Given the description of an element on the screen output the (x, y) to click on. 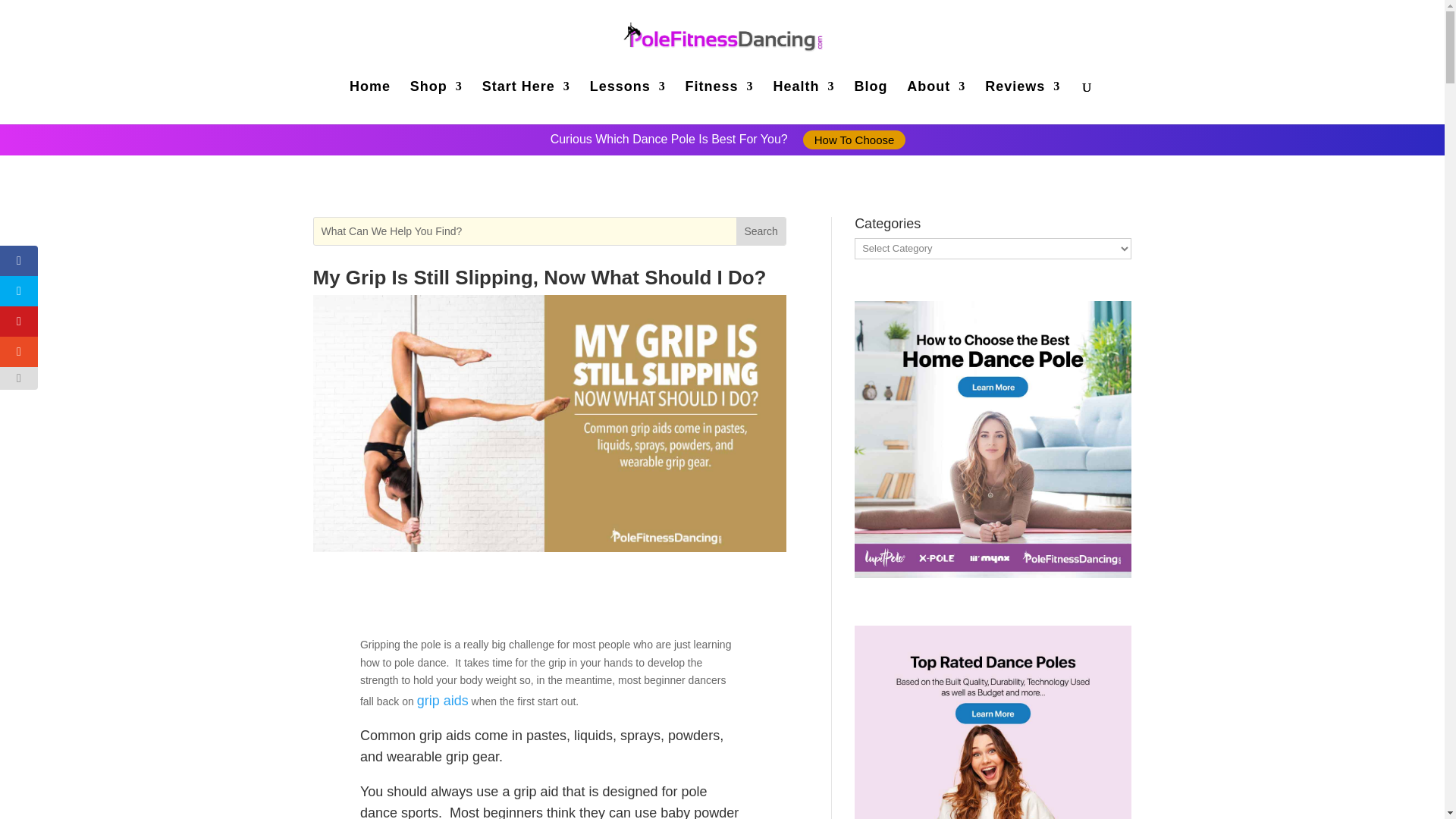
Shop (436, 100)
Search (760, 230)
Lessons (627, 100)
About (936, 100)
Start Here (525, 100)
Reviews (1022, 100)
Fitness (719, 100)
My-Grip-Is-Still-Slipping,-Now-What-Should-I-Do blog (549, 423)
Health (803, 100)
Search (760, 230)
